Given the description of an element on the screen output the (x, y) to click on. 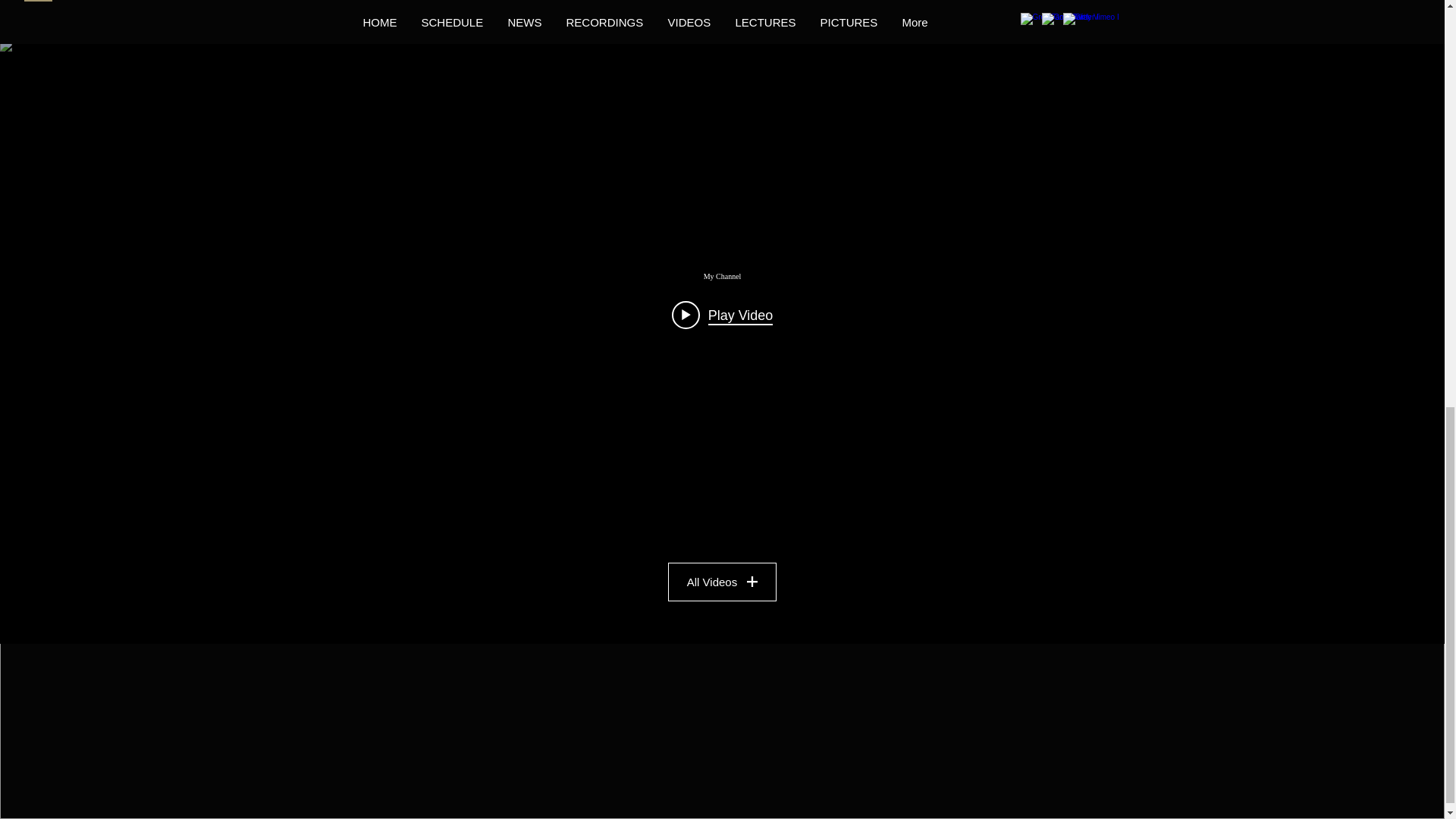
Play Video (722, 314)
All Videos (722, 581)
My Channel (721, 275)
